Given the description of an element on the screen output the (x, y) to click on. 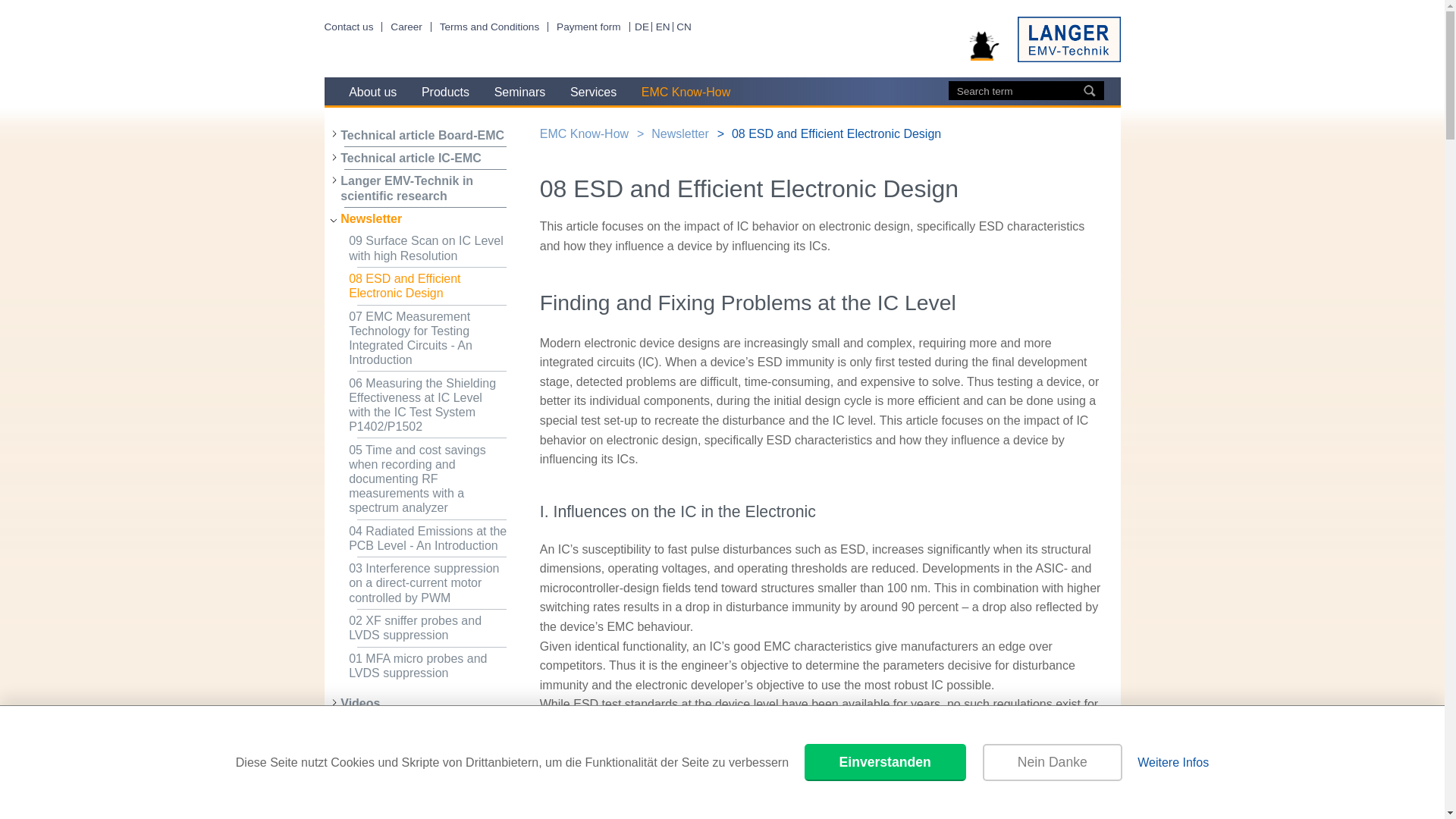
Terms and Conditions (488, 26)
Career (406, 26)
Payment form (588, 26)
Contact us (349, 26)
DE (641, 26)
CN (684, 26)
EN (662, 26)
Products (445, 90)
About us (372, 90)
